Given the description of an element on the screen output the (x, y) to click on. 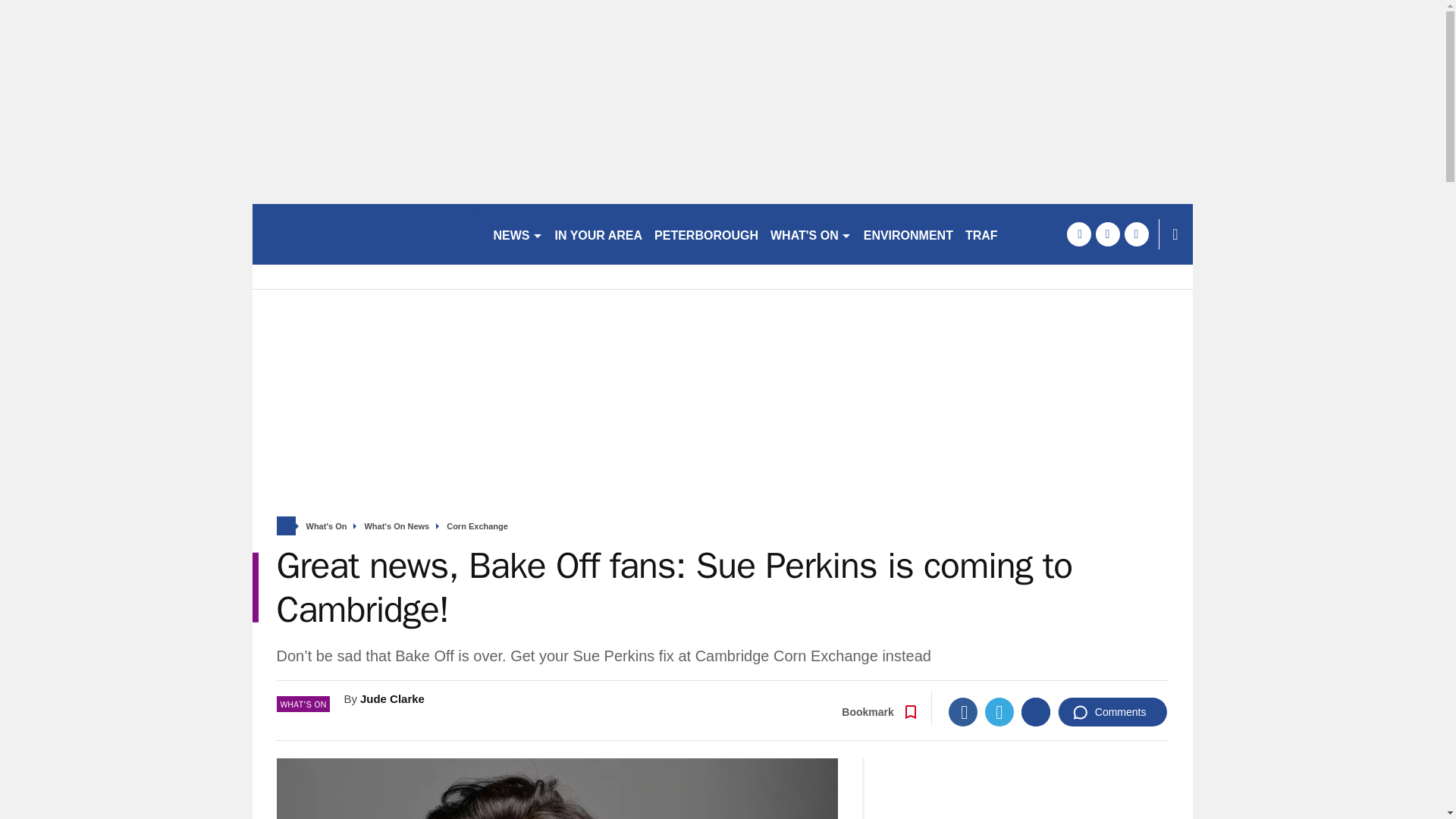
twitter (1106, 233)
cambridgenews (365, 233)
Comments (1112, 711)
PETERBOROUGH (705, 233)
IN YOUR AREA (598, 233)
NEWS (517, 233)
Facebook (962, 711)
instagram (1136, 233)
Twitter (999, 711)
WHAT'S ON (810, 233)
